Given the description of an element on the screen output the (x, y) to click on. 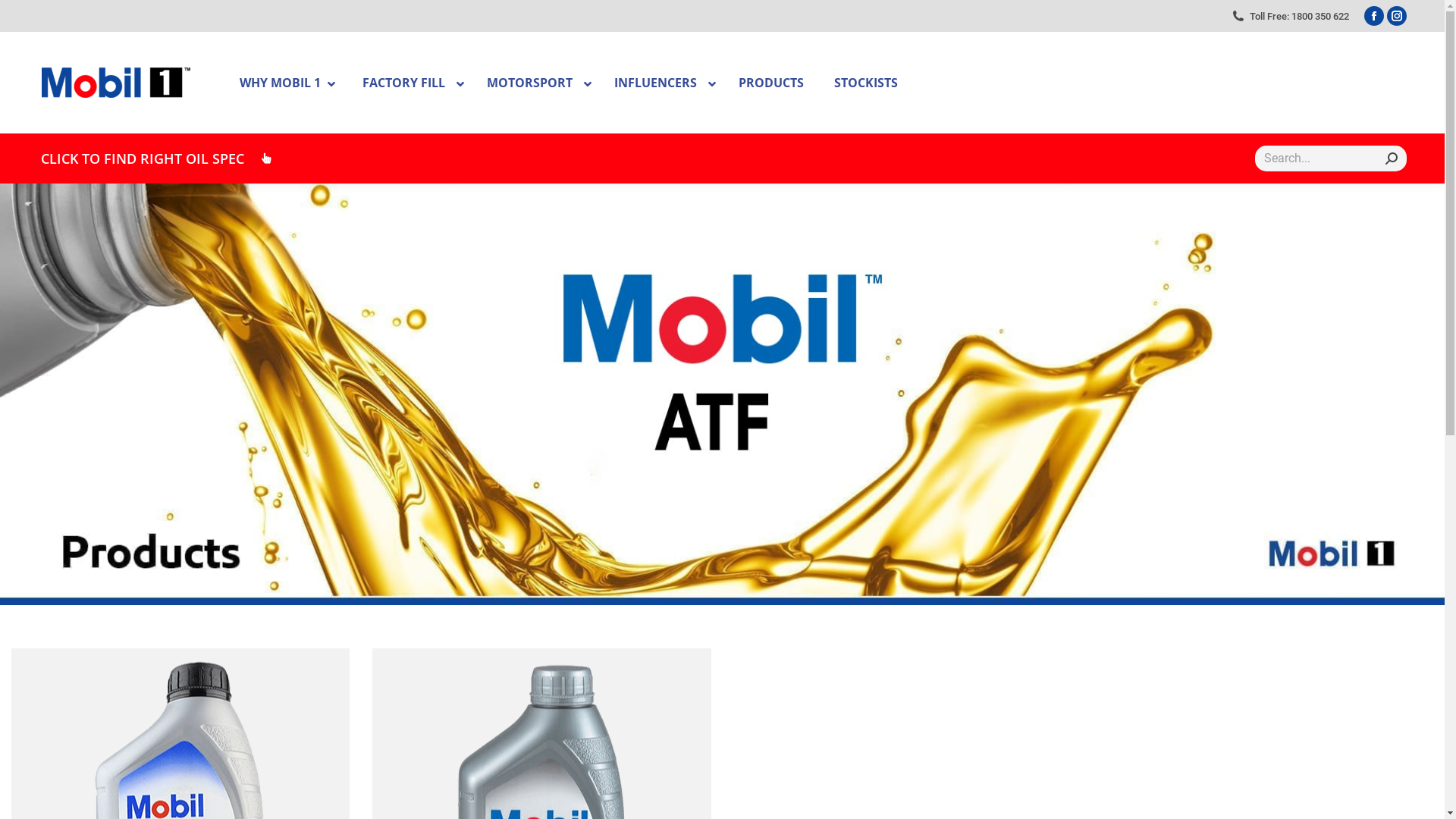
INFLUENCERS Element type: text (661, 81)
FACTORY FILL Element type: text (409, 81)
MOTORSPORT Element type: text (535, 81)
WHY MOBIL 1 Element type: text (285, 81)
STOCKISTS Element type: text (866, 81)
Facebook page opens in new window Element type: text (1373, 15)
Search form Element type: hover (1330, 158)
PRODUCTS Element type: text (771, 81)
Instagram page opens in new window Element type: text (1396, 15)
Go! Element type: text (29, 16)
CLICK TO FIND RIGHT OIL SPEC Element type: text (156, 158)
